Given the description of an element on the screen output the (x, y) to click on. 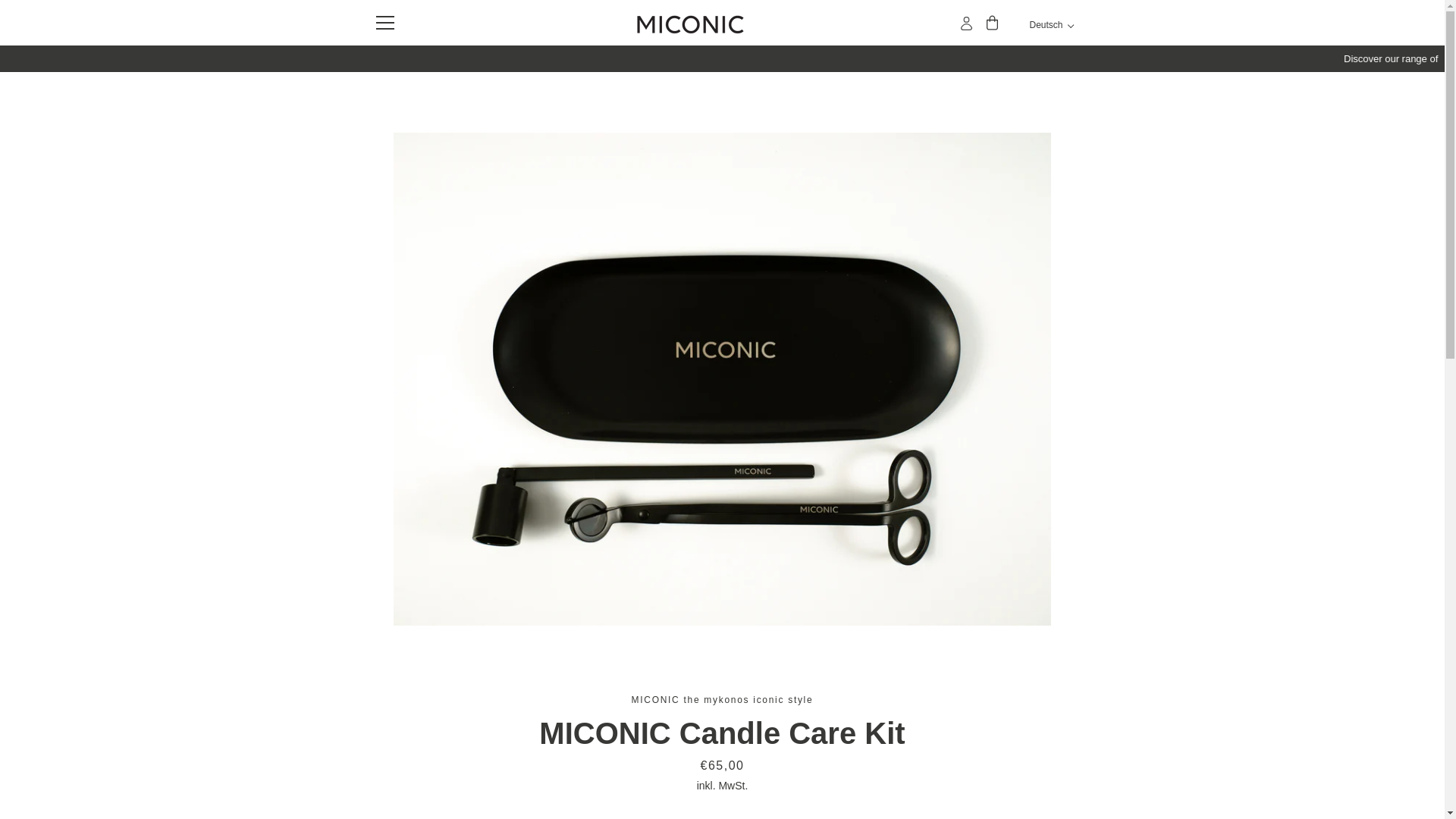
CONTACT (558, 660)
TERMS OF SERVICE (860, 660)
EINKAUFSWAGEN EINSEHEN (992, 22)
Union Pay (1022, 730)
Mastercard (953, 730)
Facebook (372, 728)
Visa (1057, 730)
Instagram (399, 728)
American Express (883, 730)
MICONIC the mykonos iconic style auf Facebook (372, 728)
PayPal (988, 730)
Maestro (918, 730)
REFUND POLICY (748, 660)
PRIVACY POLICY (644, 660)
